Given the description of an element on the screen output the (x, y) to click on. 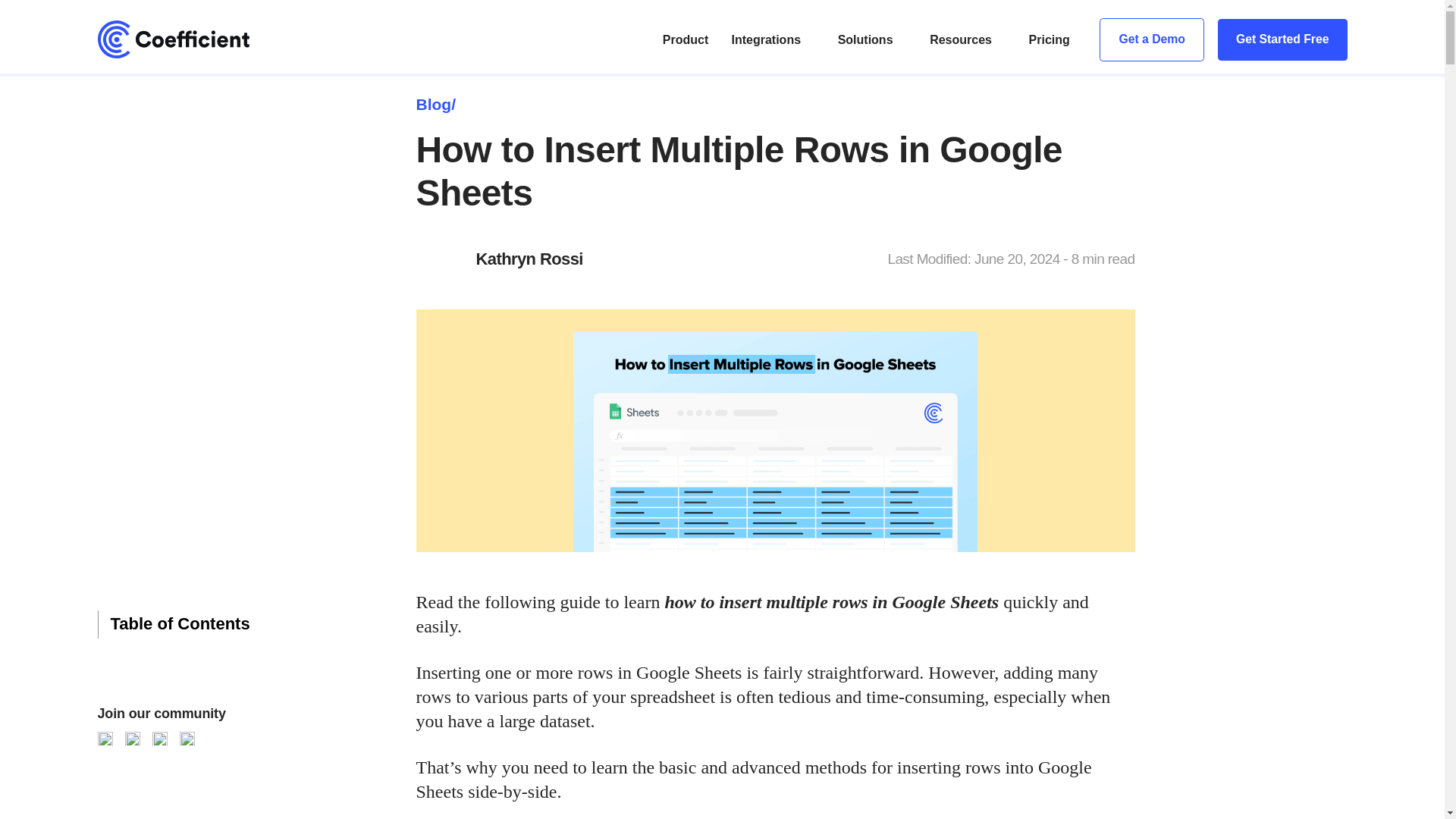
YouTube (104, 738)
Get a Demo (1151, 39)
Solutions (865, 39)
Product (684, 39)
LinkedIn (186, 738)
Resources (960, 39)
Twitter (131, 738)
Pricing (1049, 39)
Get Started Free (1282, 39)
Facebook (159, 738)
